Given the description of an element on the screen output the (x, y) to click on. 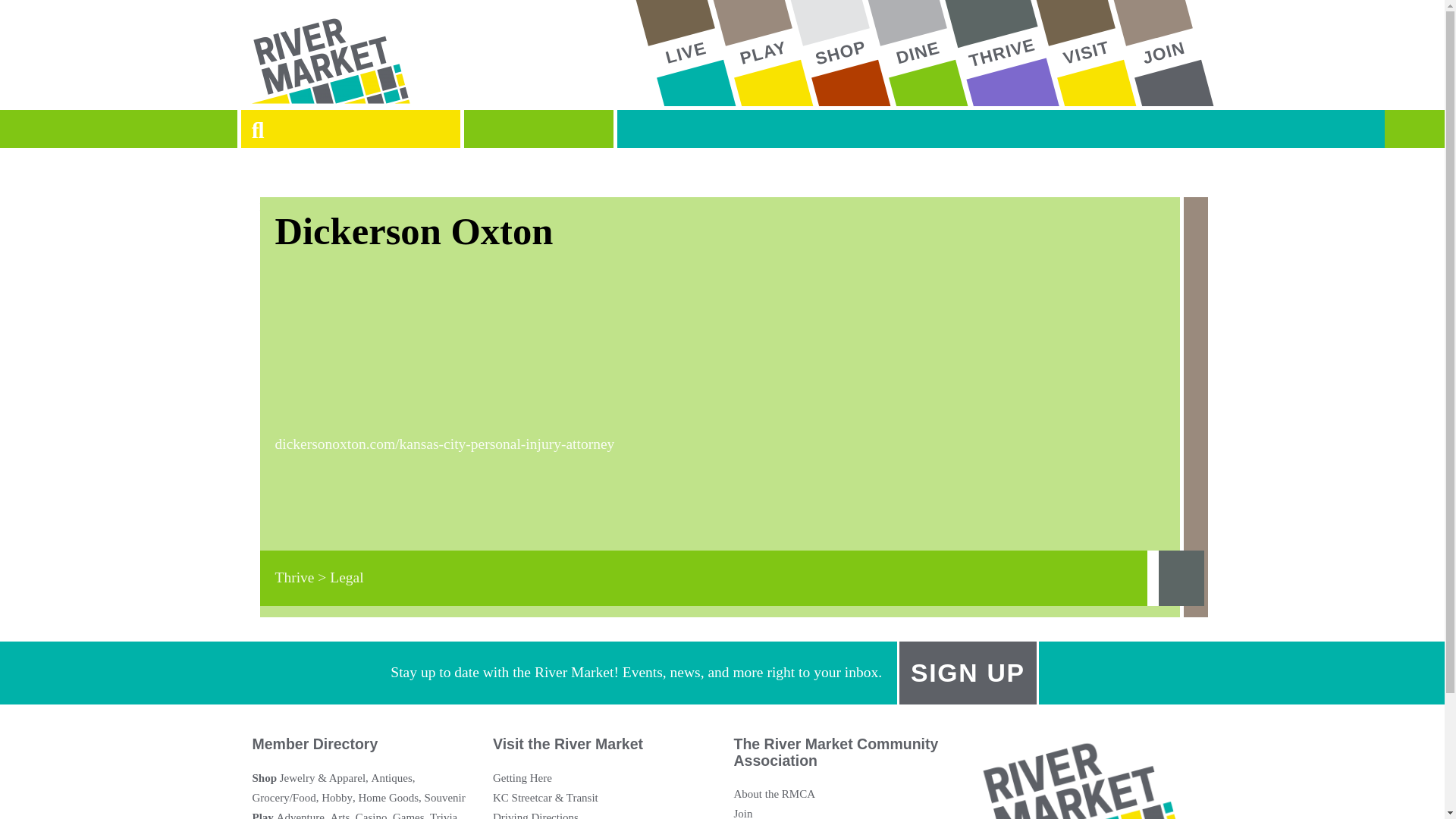
Legal (703, 578)
Visit Dickerson Oxton (731, 444)
